Given the description of an element on the screen output the (x, y) to click on. 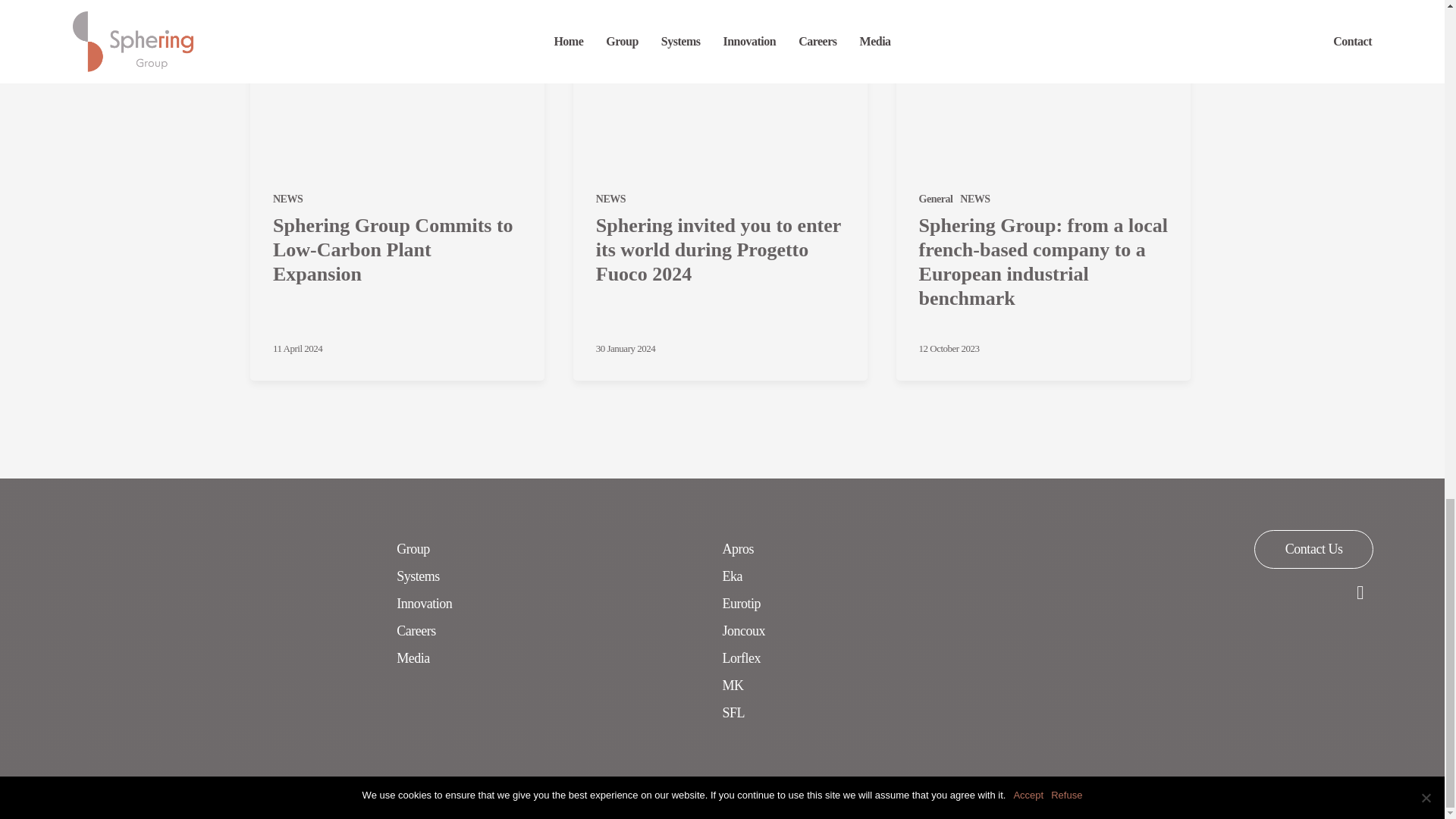
NEWS (610, 198)
Apros (738, 548)
Systems (417, 576)
Eka (732, 576)
Joncoux (743, 630)
General (935, 198)
Careers (415, 630)
NEWS (974, 198)
Eurotip (741, 603)
NEWS (287, 198)
Media (412, 658)
Group (412, 548)
Innovation (423, 603)
